Given the description of an element on the screen output the (x, y) to click on. 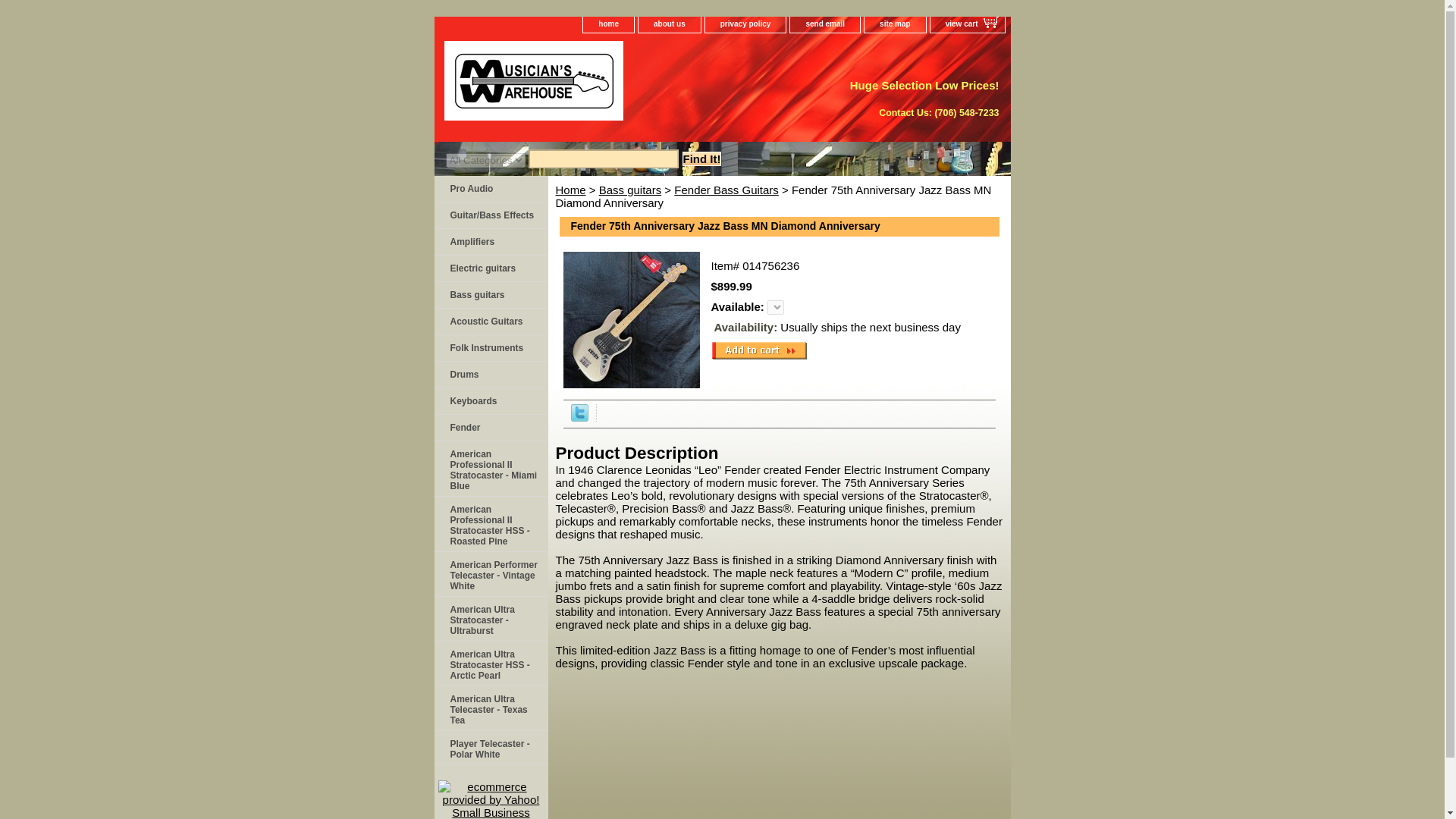
American Ultra Stratocaster - Ultraburst (490, 619)
Acoustic Guitars (490, 321)
Pro Audio (490, 189)
Pro Audio (490, 189)
American Ultra Stratocaster - Ultraburst (490, 619)
Folk Instruments (490, 347)
American Professional II Stratocaster HSS - Roasted Pine (490, 524)
Find It! (702, 158)
Player Telecaster - Polar White (490, 747)
Amplifiers (490, 242)
Drums (490, 374)
Fender Bass Guitars (726, 189)
home (608, 24)
send email (825, 24)
American Professional II Stratocaster - Miami Blue (490, 468)
